Given the description of an element on the screen output the (x, y) to click on. 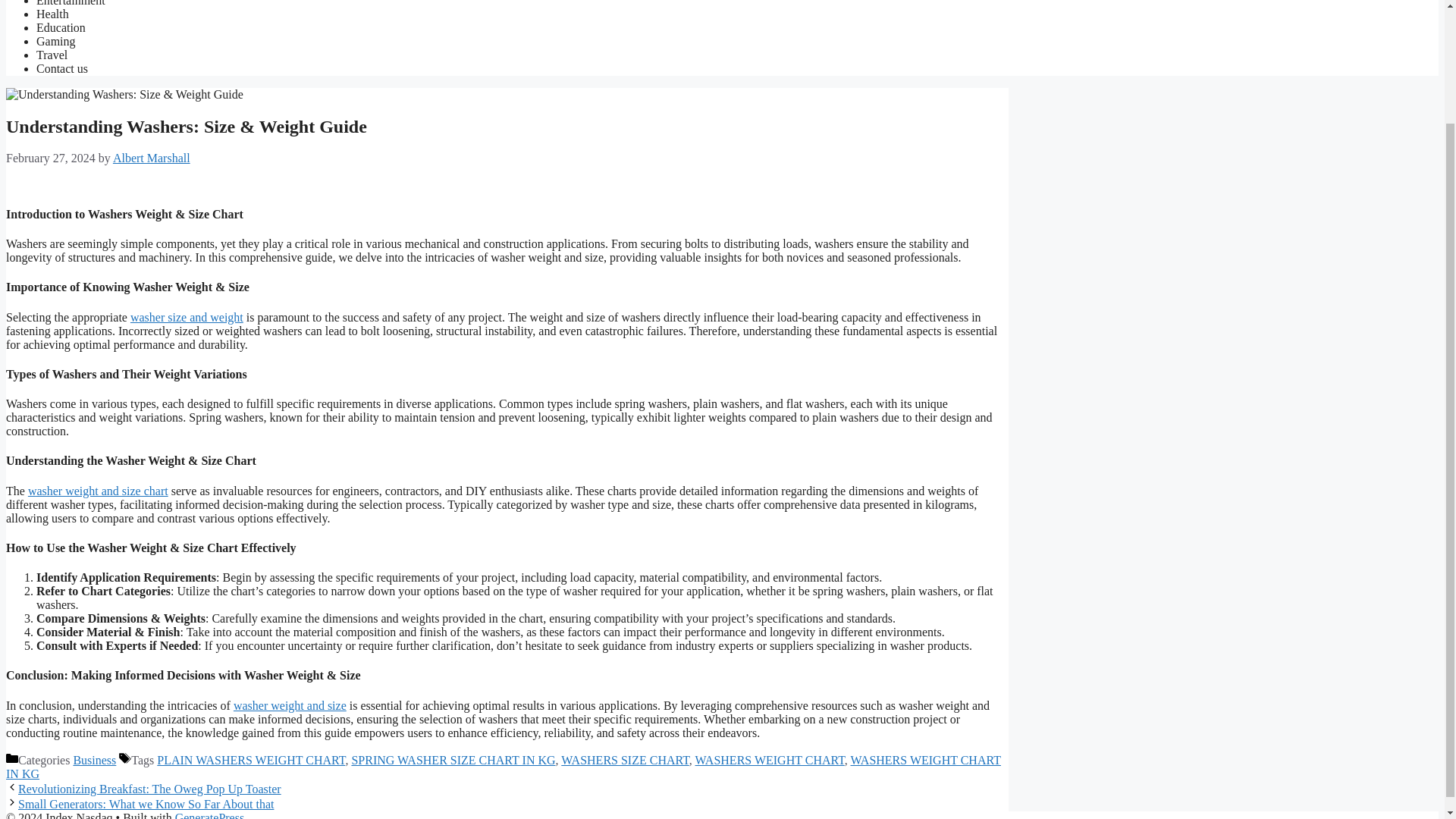
washer weight and size (289, 705)
SPRING WASHER SIZE CHART IN KG (452, 759)
Business (94, 759)
Contact us (61, 68)
washer weight and size chart (97, 490)
WASHERS WEIGHT CHART IN KG (503, 766)
View all posts by Albert Marshall (151, 157)
WASHERS SIZE CHART (624, 759)
Albert Marshall (151, 157)
PLAIN WASHERS WEIGHT CHART (251, 759)
Education (60, 27)
Entertainment (70, 3)
WASHERS WEIGHT CHART (769, 759)
Gaming (55, 41)
Travel (51, 54)
